Given the description of an element on the screen output the (x, y) to click on. 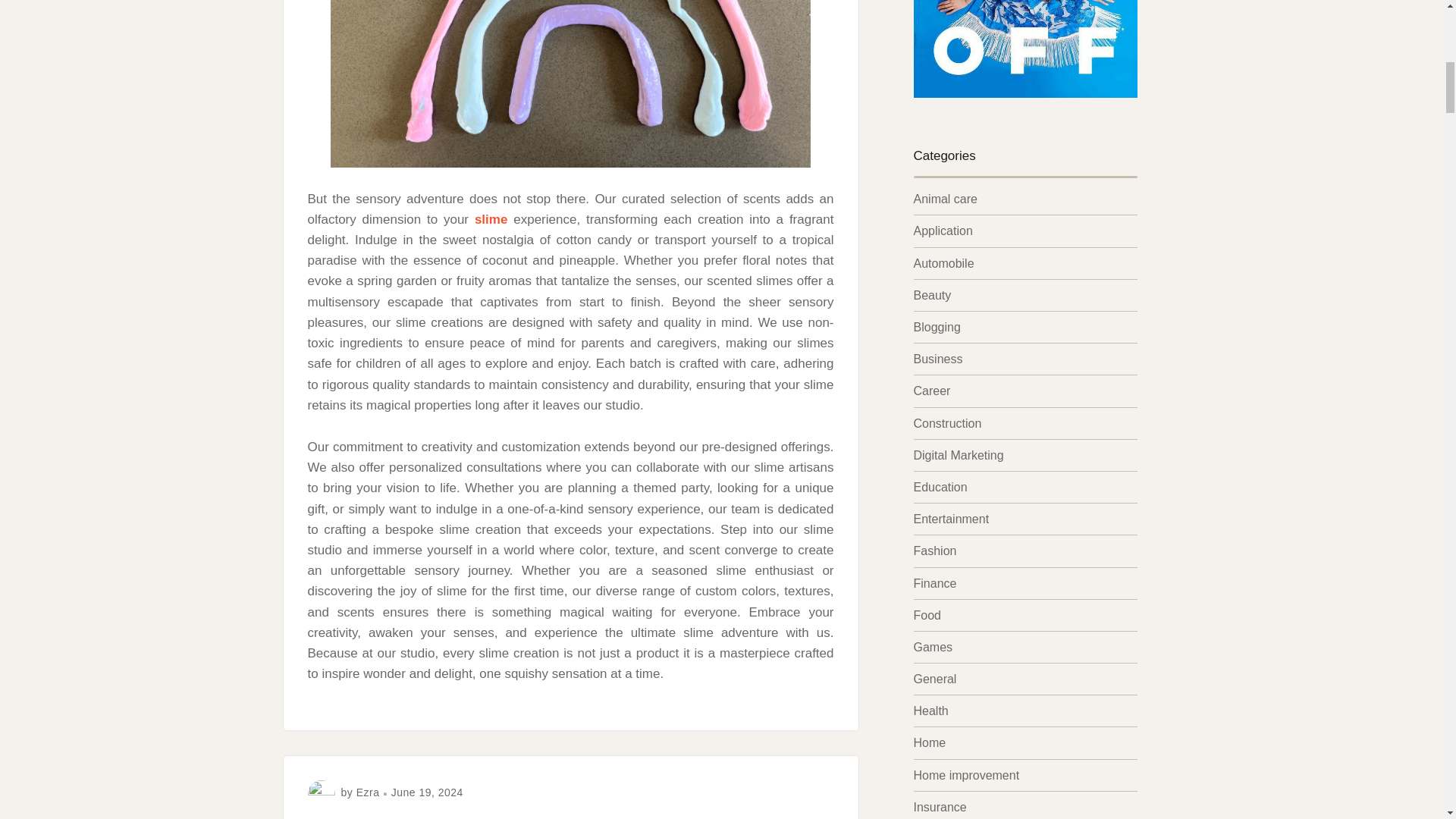
June 19, 2024 (427, 792)
Ezra (368, 792)
slime (490, 219)
